Given the description of an element on the screen output the (x, y) to click on. 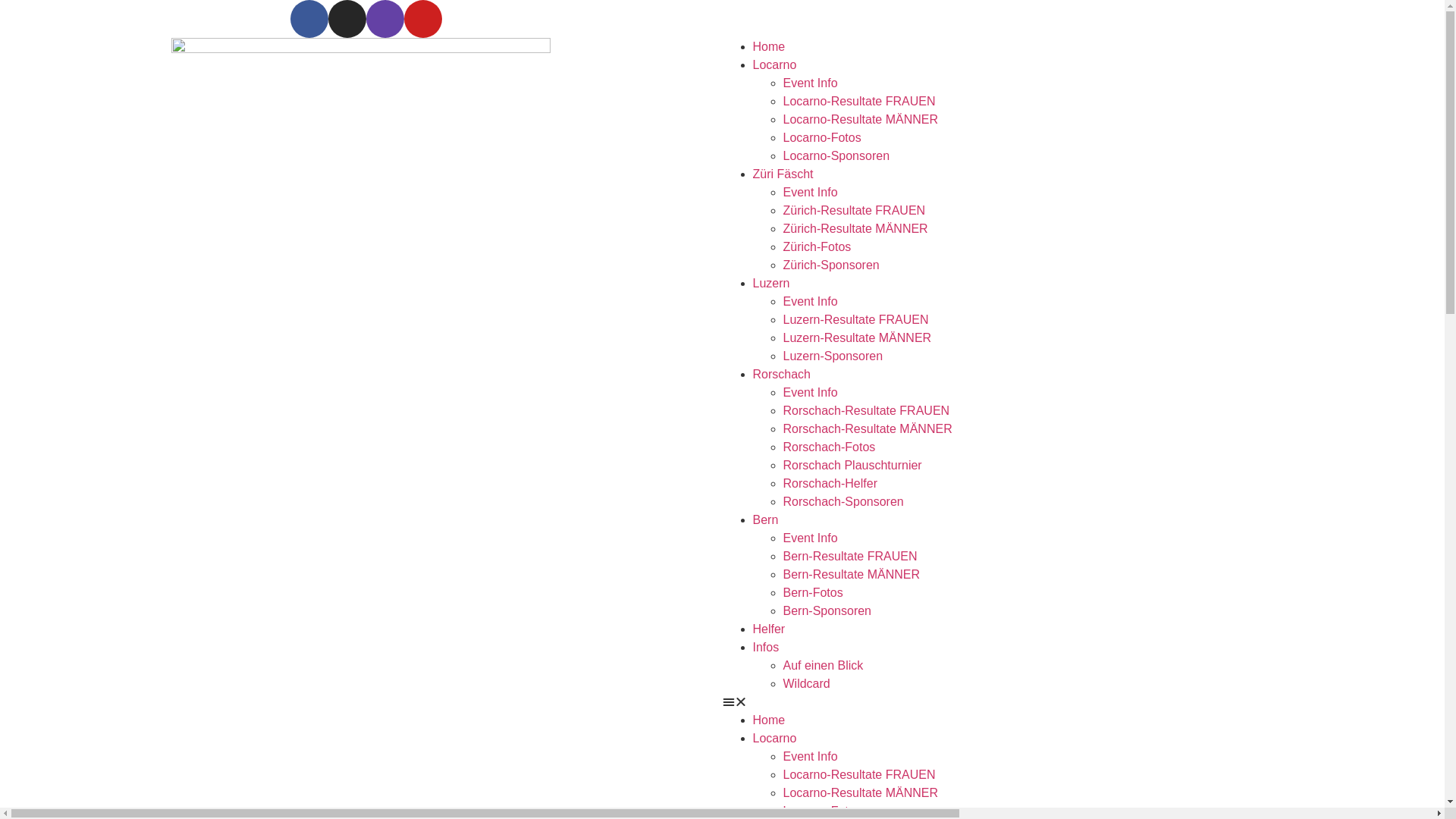
Event Info Element type: text (809, 82)
Locarno-Sponsoren Element type: text (835, 155)
Helfer Element type: text (768, 628)
Auf einen Blick Element type: text (822, 664)
Luzern-Resultate FRAUEN Element type: text (855, 319)
Locarno-Fotos Element type: text (821, 810)
Rorschach-Helfer Element type: text (829, 482)
Locarno-Resultate FRAUEN Element type: text (858, 100)
Luzern-Sponsoren Element type: text (832, 355)
Wildcard Element type: text (805, 683)
Rorschach Plauschturnier Element type: text (851, 464)
Home Element type: text (768, 46)
Locarno-Resultate FRAUEN Element type: text (858, 774)
Luzern Element type: text (770, 282)
Bern Element type: text (765, 519)
Event Info Element type: text (809, 391)
Event Info Element type: text (809, 755)
Rorschach-Fotos Element type: text (828, 446)
Event Info Element type: text (809, 191)
Locarno-Fotos Element type: text (821, 137)
Bern-Sponsoren Element type: text (826, 610)
Event Info Element type: text (809, 300)
Infos Element type: text (765, 646)
Rorschach-Resultate FRAUEN Element type: text (865, 410)
Home Element type: text (768, 719)
Event Info Element type: text (809, 537)
Rorschach-Sponsoren Element type: text (842, 501)
Rorschach Element type: text (780, 373)
Bern-Fotos Element type: text (812, 592)
Bern-Resultate FRAUEN Element type: text (849, 555)
Locarno Element type: text (774, 64)
Locarno Element type: text (774, 737)
